Given the description of an element on the screen output the (x, y) to click on. 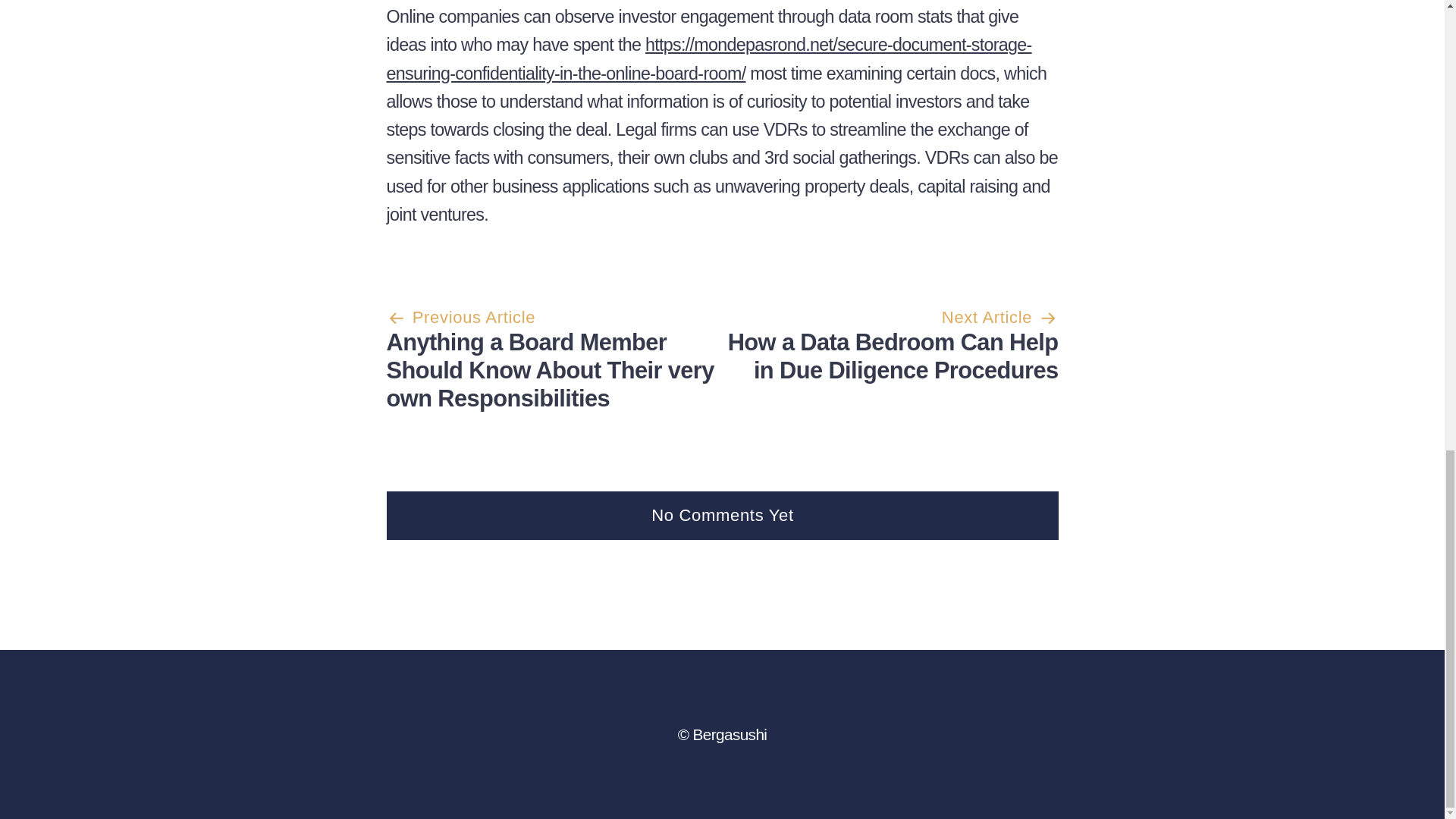
How a Data Bedroom Can Help in Due Diligence Procedures (893, 356)
